Given the description of an element on the screen output the (x, y) to click on. 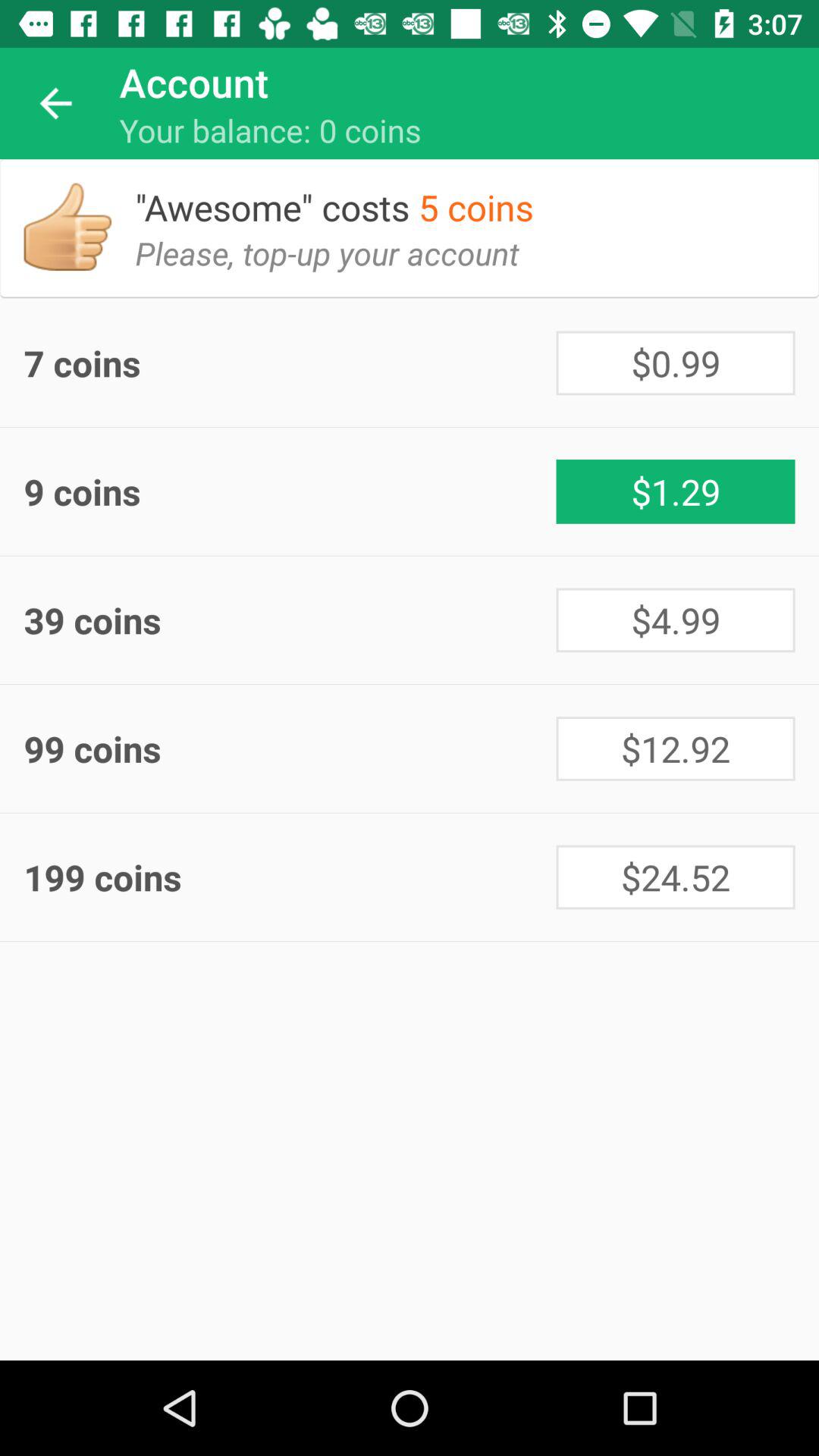
choose icon above the 7 coins icon (339, 264)
